Given the description of an element on the screen output the (x, y) to click on. 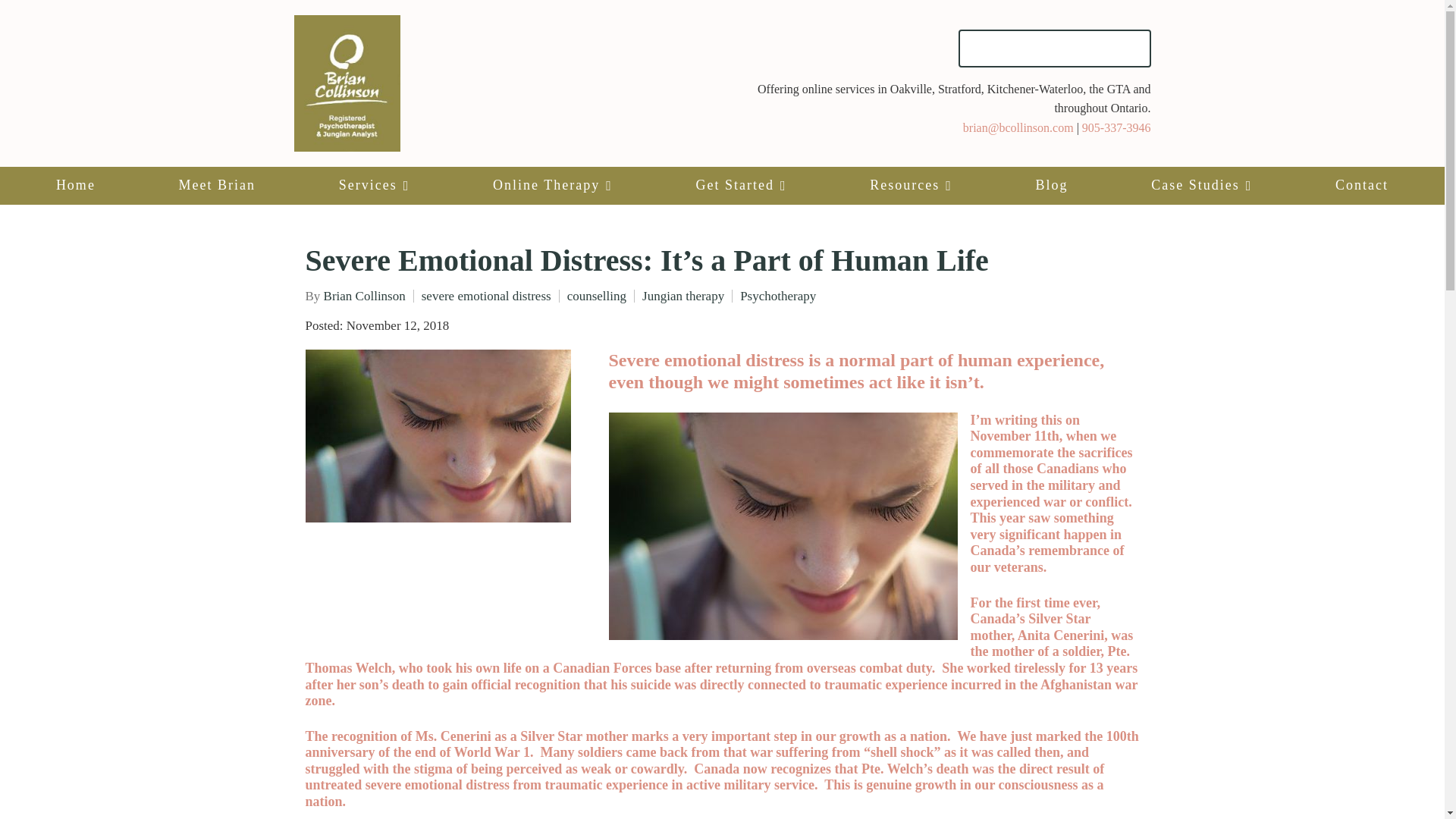
Services (374, 185)
Online Therapy (552, 185)
Home (75, 185)
Blog (1051, 185)
Contact (1361, 185)
Posts by Brian Collinson (364, 295)
Book an Appointment (1054, 48)
Meet Brian (216, 185)
Case Studies (1201, 185)
Get Started (740, 185)
